Given the description of an element on the screen output the (x, y) to click on. 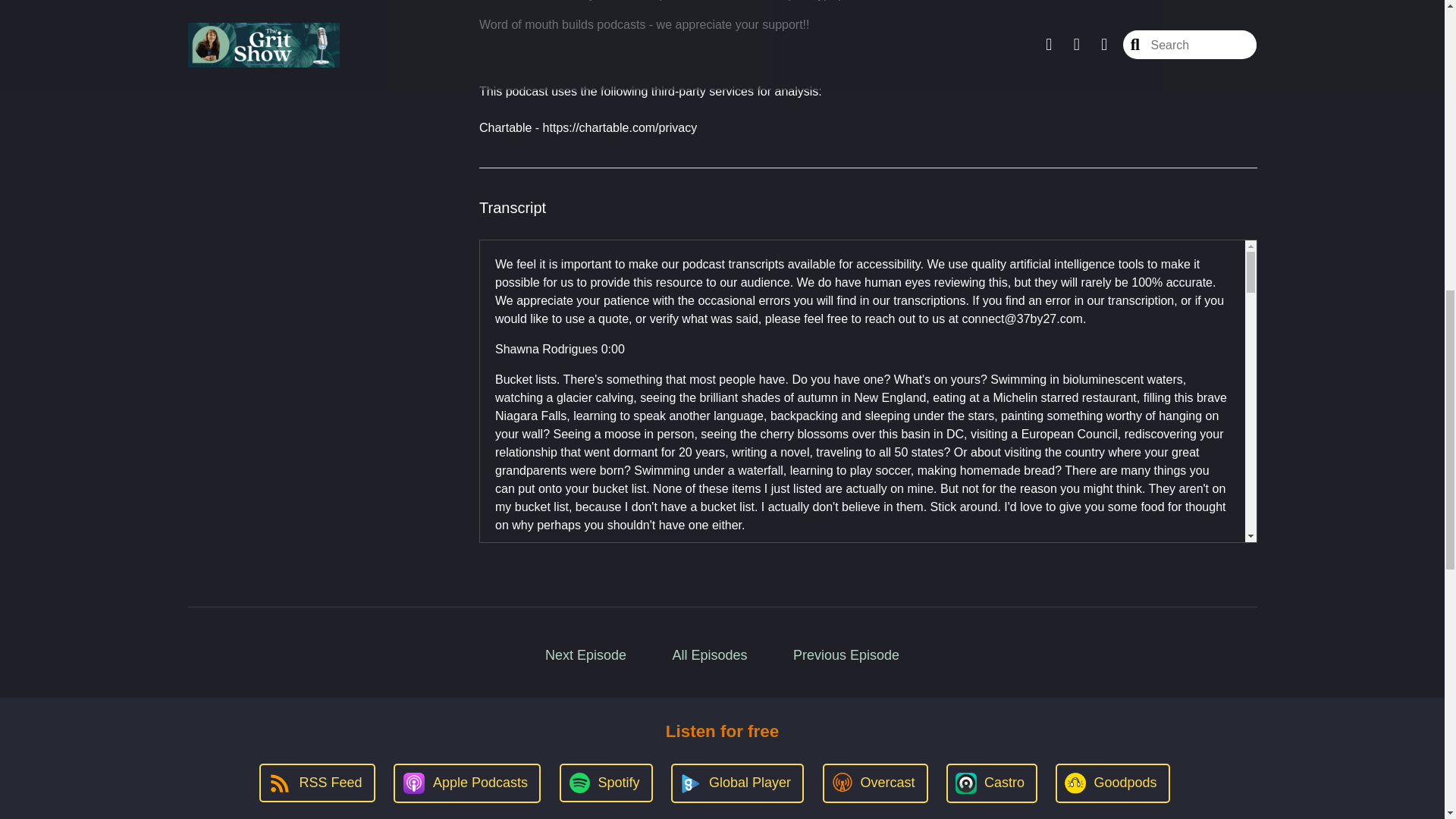
RSS Feed (316, 782)
Global Player (737, 783)
All Episodes (709, 655)
Previous Episode (845, 655)
Apple Podcasts (466, 783)
Goodpods (1112, 783)
Castro (991, 783)
Overcast (874, 783)
Next Episode (585, 655)
Spotify (605, 782)
